Given the description of an element on the screen output the (x, y) to click on. 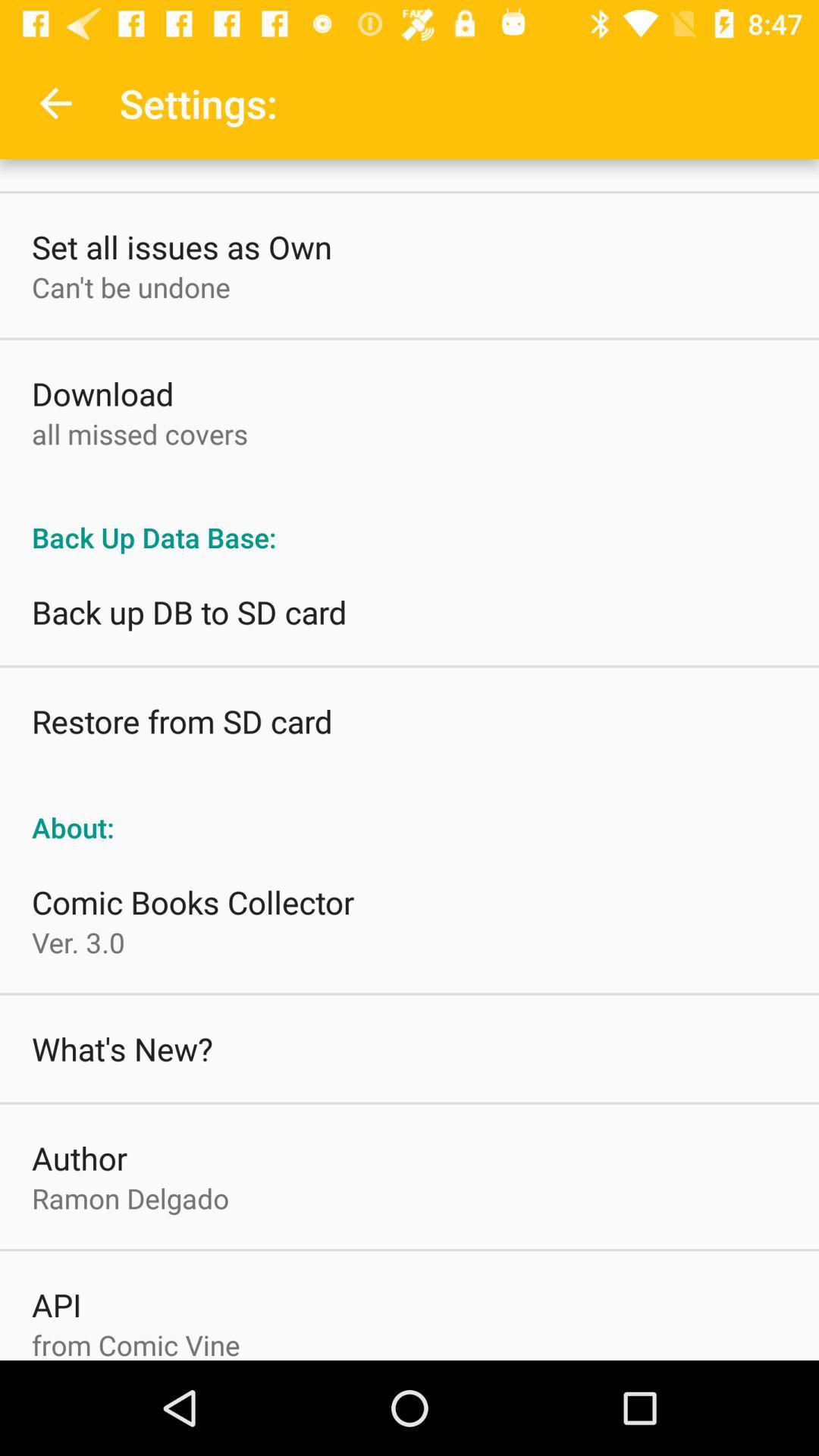
select download item (102, 393)
